Given the description of an element on the screen output the (x, y) to click on. 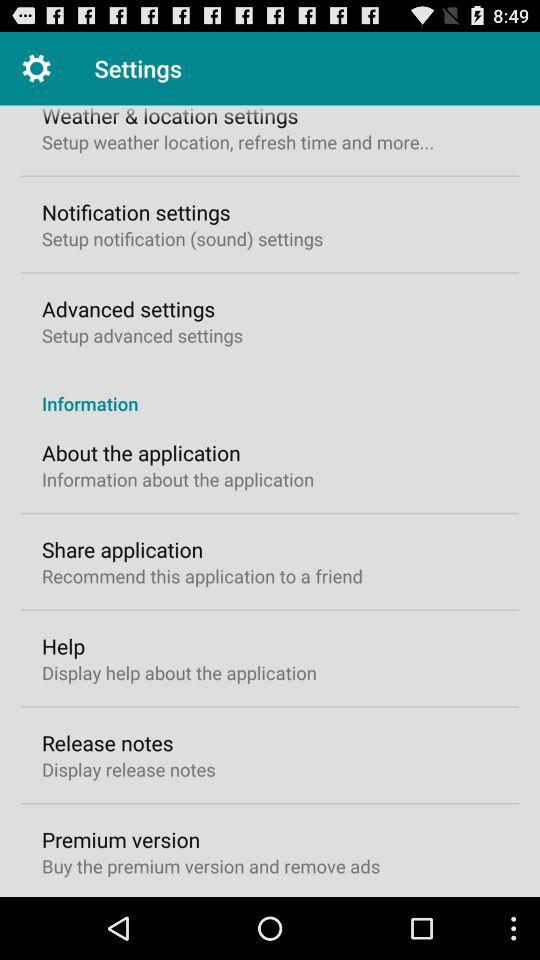
turn off item at the bottom (211, 865)
